Given the description of an element on the screen output the (x, y) to click on. 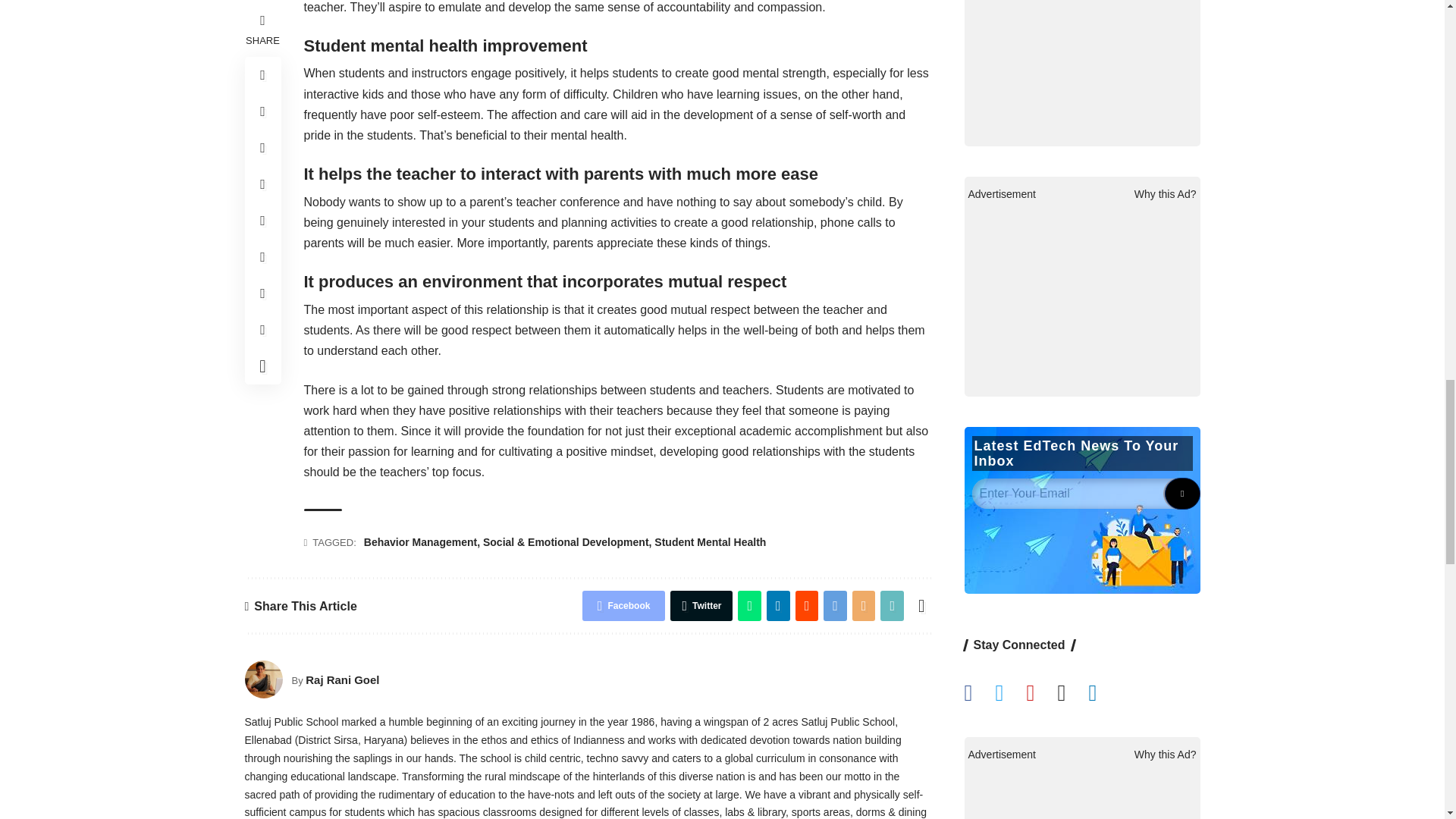
Raj Rani Goel (263, 679)
